Given the description of an element on the screen output the (x, y) to click on. 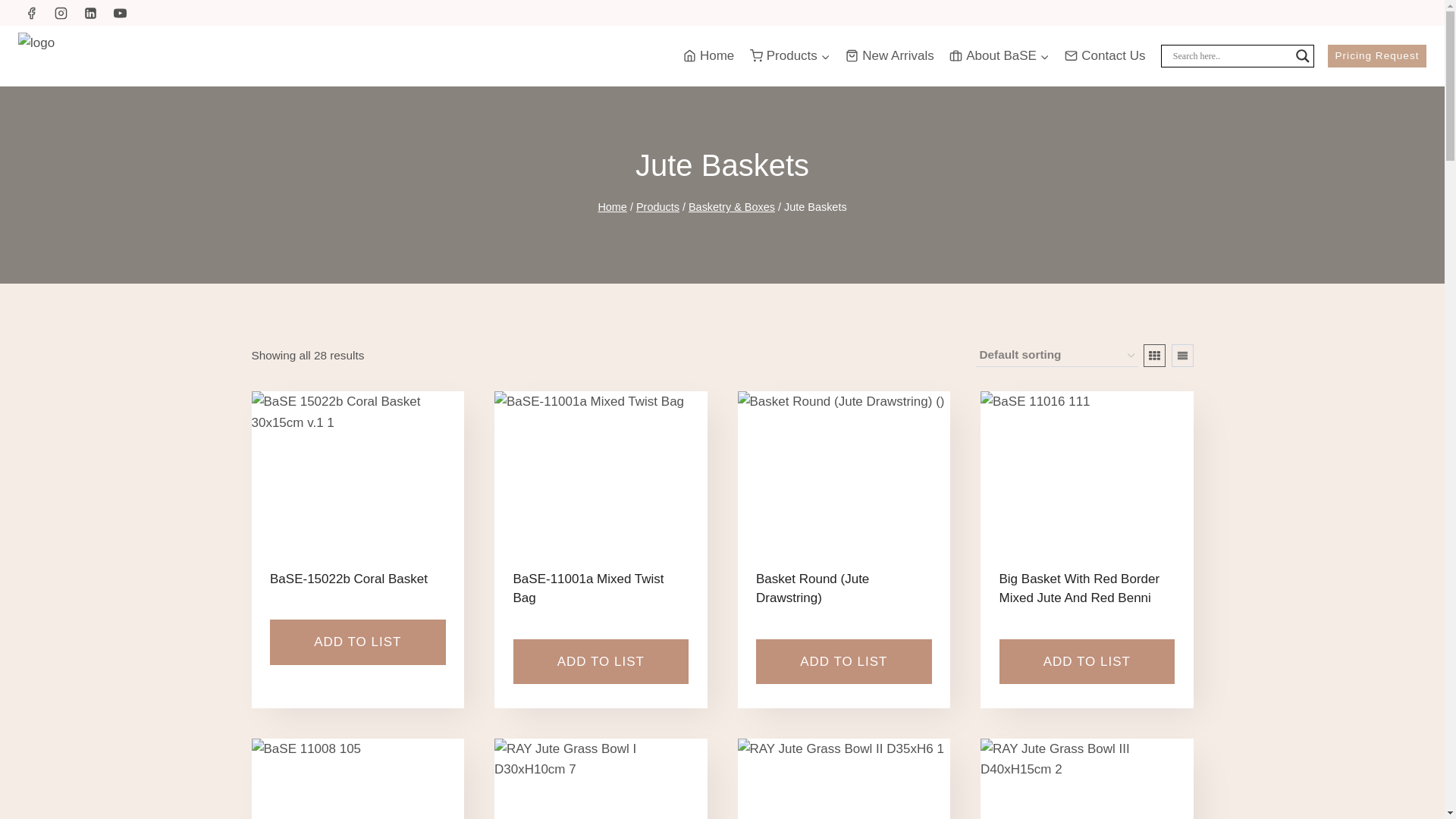
About BaSE (999, 55)
List View (1181, 354)
Grid View (1154, 354)
Home (708, 55)
Products (789, 55)
New Arrivals (890, 55)
